Given the description of an element on the screen output the (x, y) to click on. 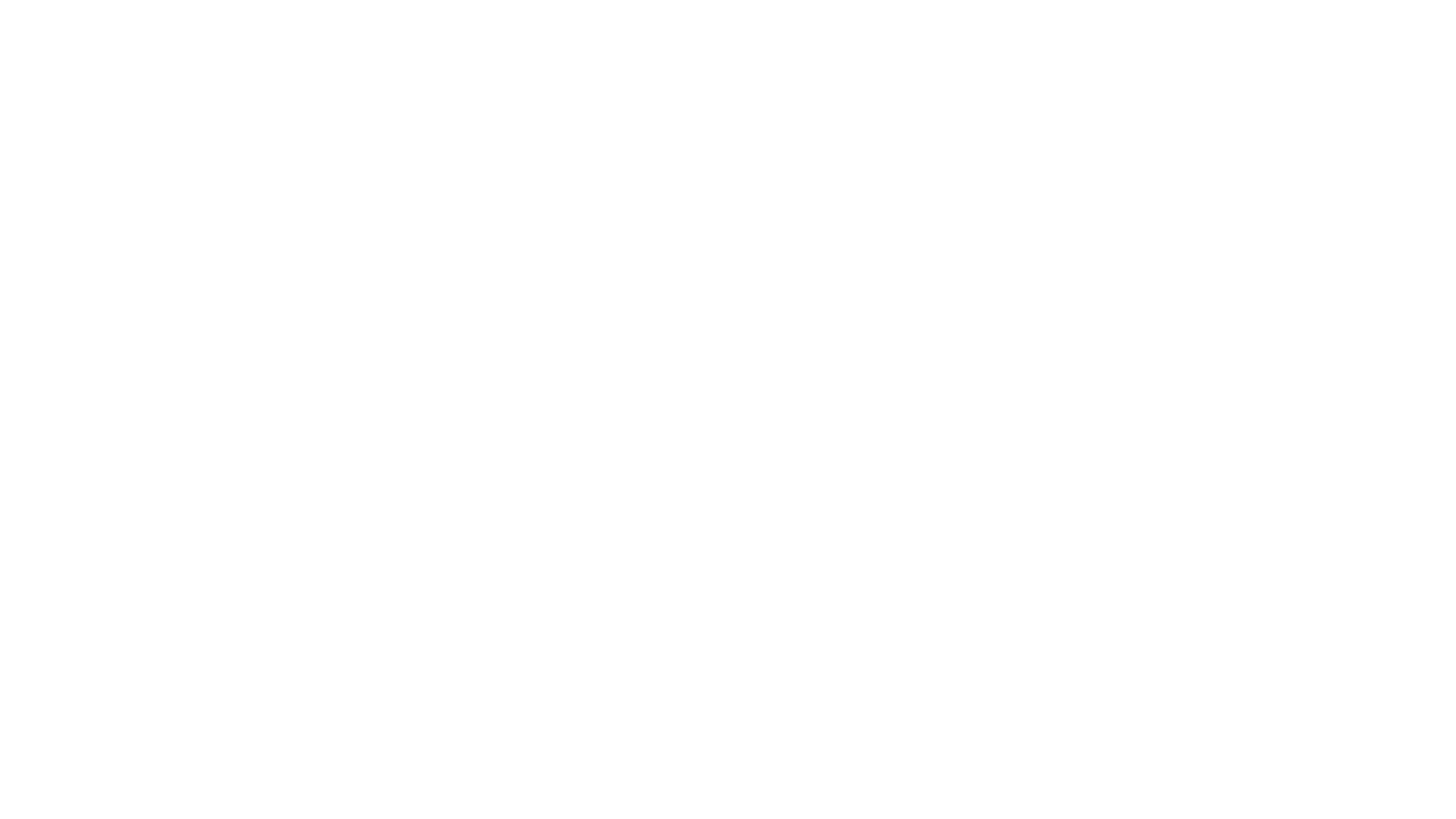
Mein Wetter Element type: text (460, 451)
Impressum Element type: text (1033, 457)
